Given the description of an element on the screen output the (x, y) to click on. 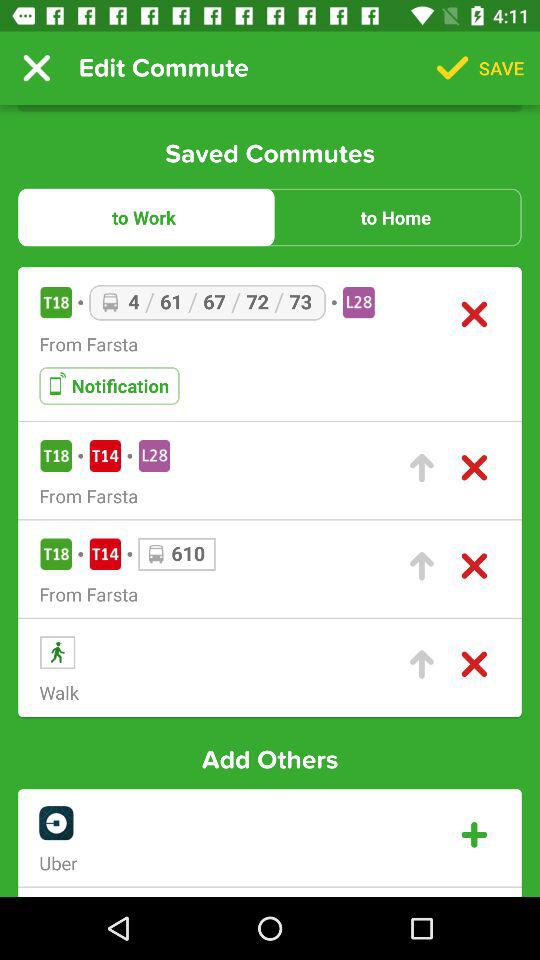
change commute importance (421, 664)
